Given the description of an element on the screen output the (x, y) to click on. 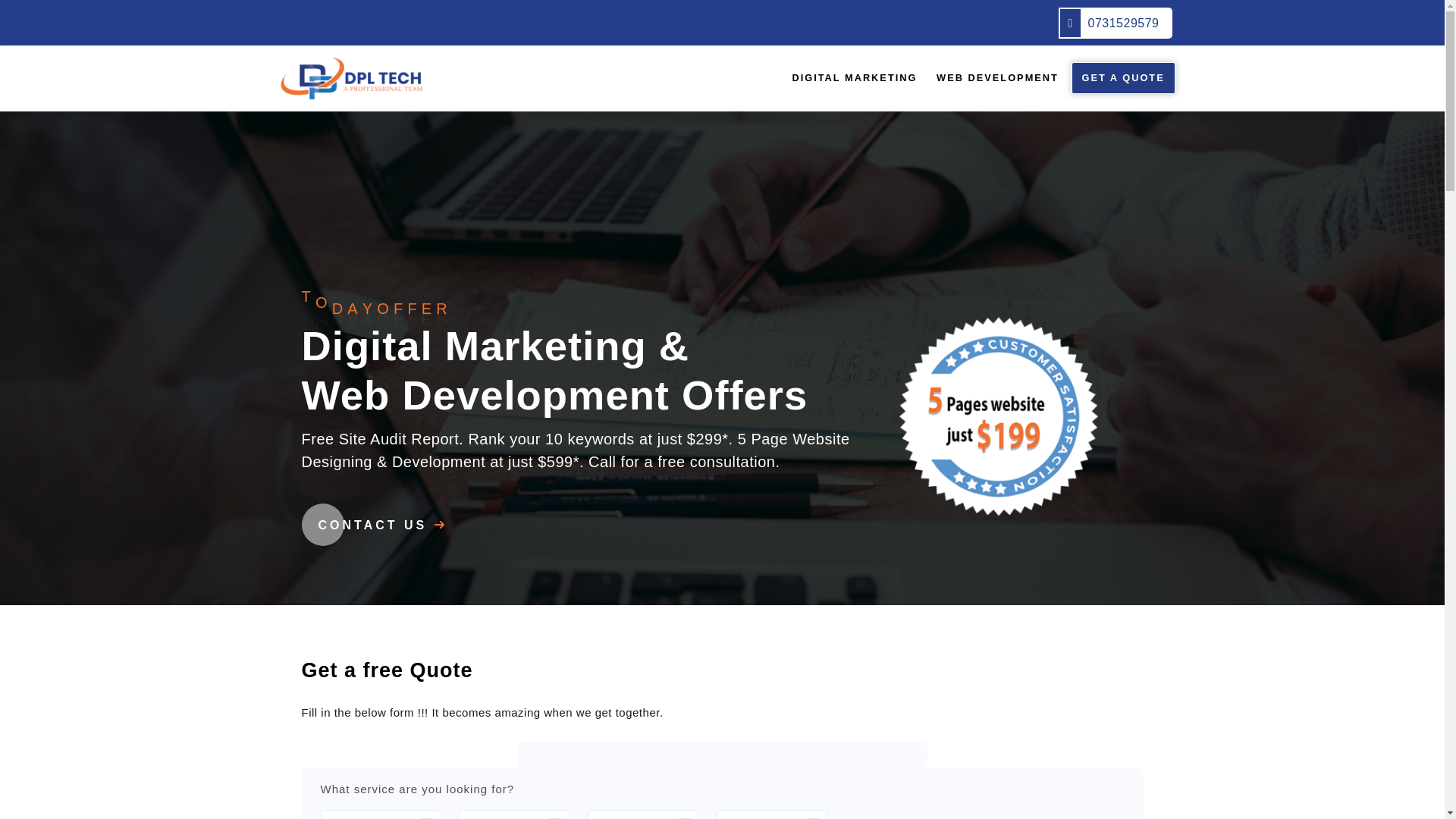
0731529579 Element type: text (1114, 22)
DIGITAL MARKETING Element type: text (853, 77)
CONTACT US Element type: text (383, 524)
GET A QUOTE Element type: text (1123, 78)
WEB DEVELOPMENT Element type: text (997, 77)
